Given the description of an element on the screen output the (x, y) to click on. 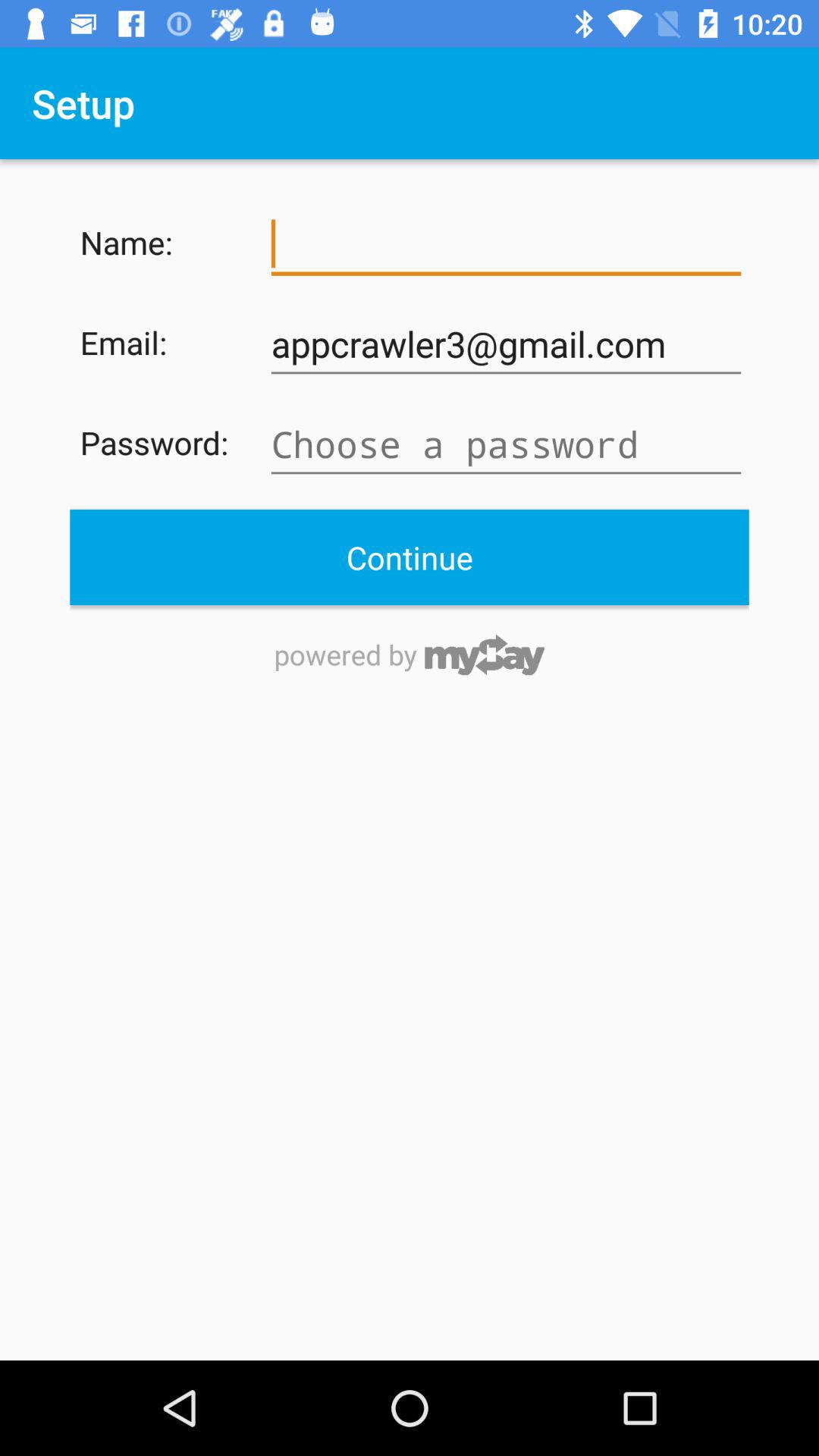
enter password (506, 444)
